Given the description of an element on the screen output the (x, y) to click on. 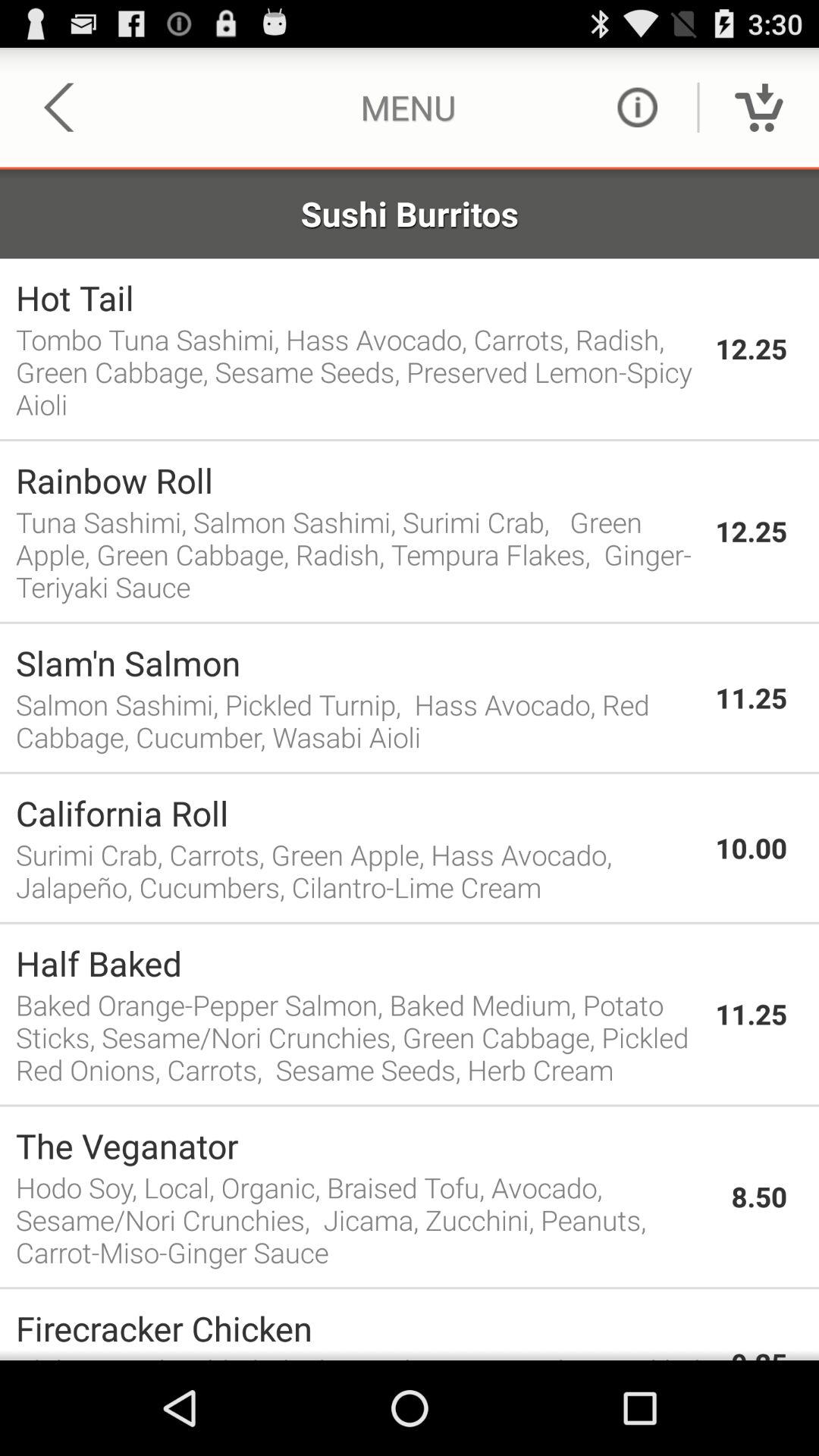
turn on the item below the surimi crab carrots item (409, 922)
